Given the description of an element on the screen output the (x, y) to click on. 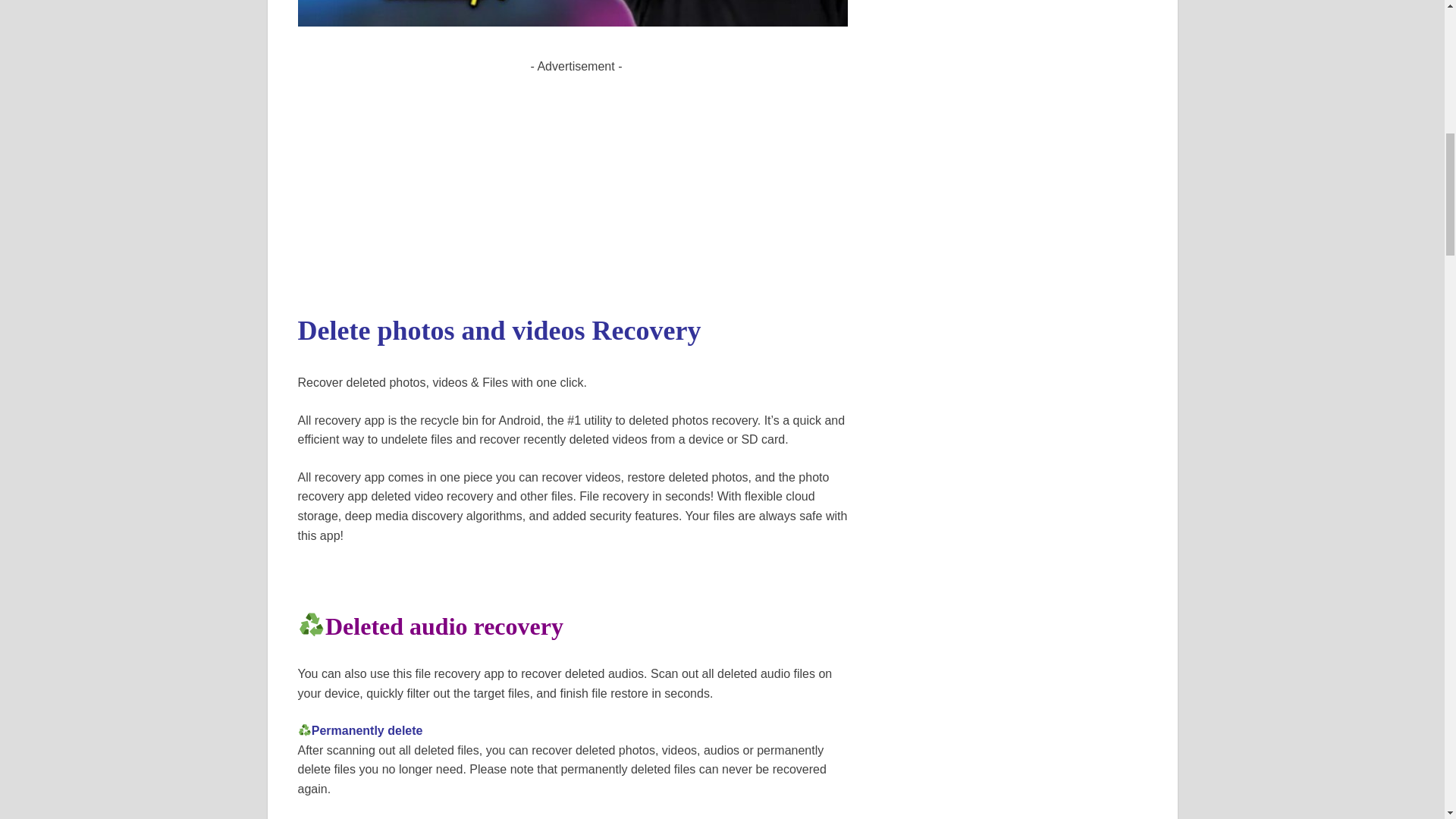
3rd party ad content (575, 182)
